Given the description of an element on the screen output the (x, y) to click on. 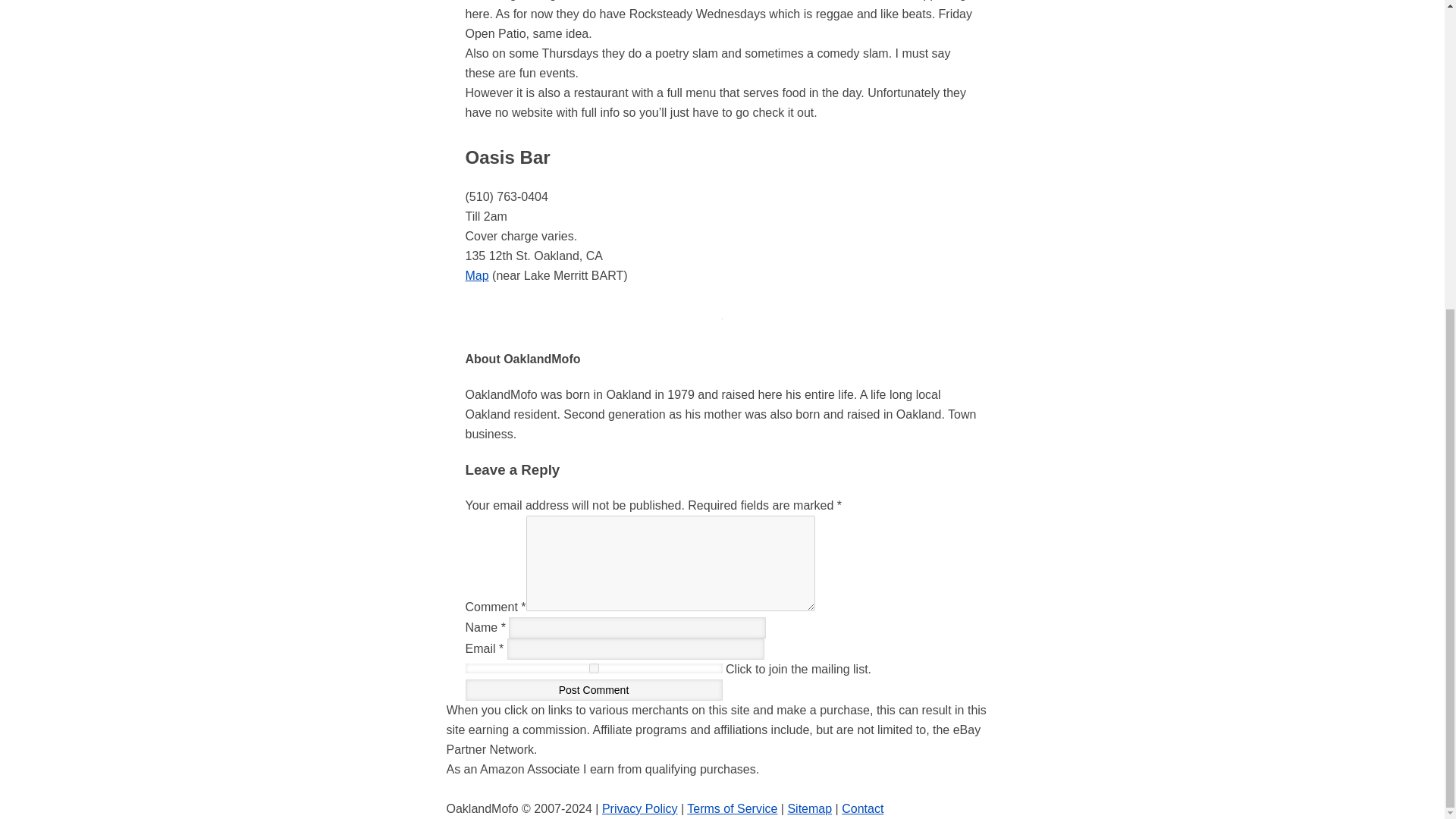
1 (593, 668)
Map (477, 275)
Contact (862, 808)
Privacy Policy (640, 808)
Sitemap (809, 808)
google map (477, 275)
Terms of Service (732, 808)
Post Comment (593, 690)
Post Comment (593, 690)
